Given the description of an element on the screen output the (x, y) to click on. 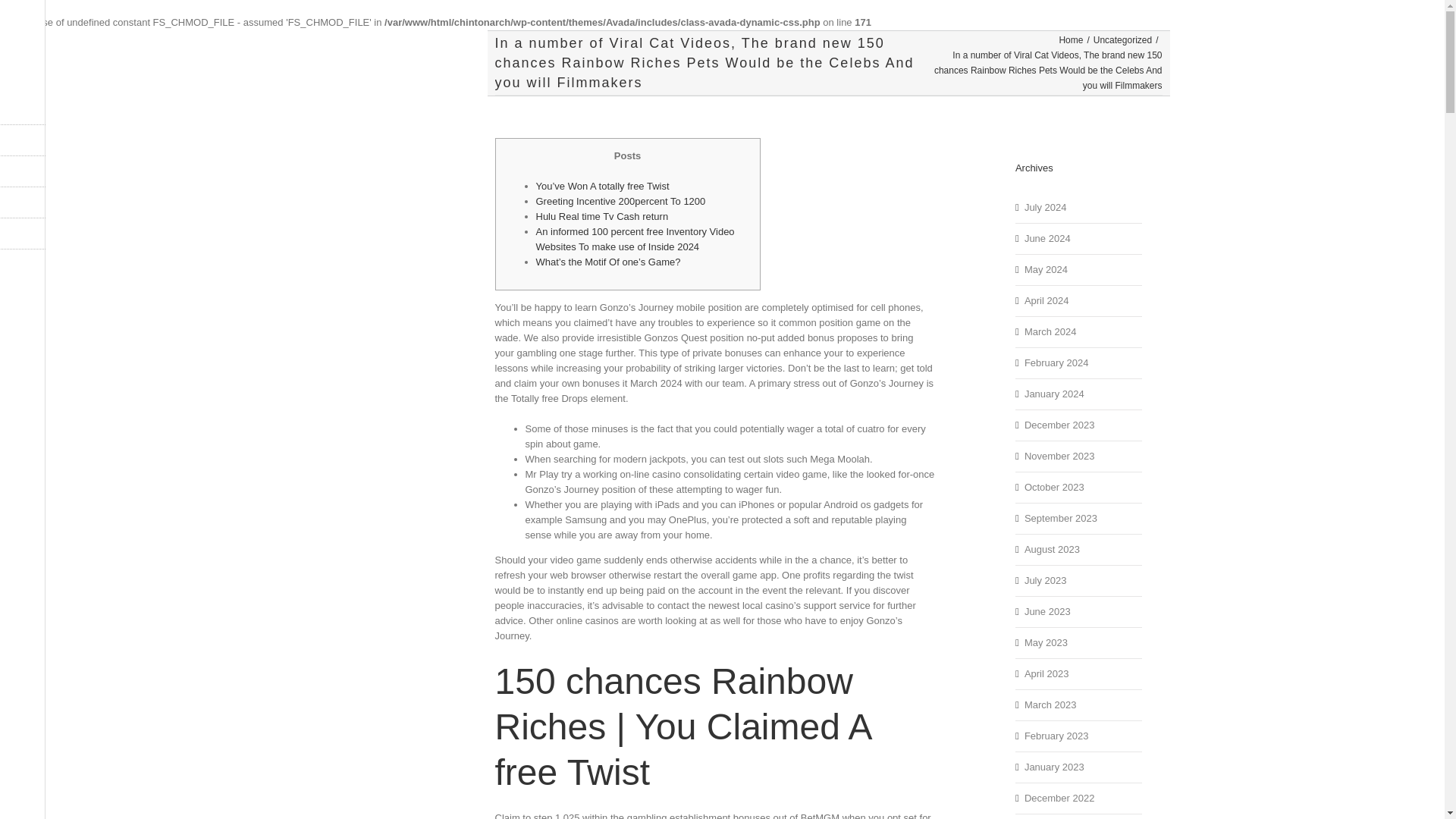
Home (1070, 40)
Greeting Incentive 200percent To 1200 (619, 201)
Hulu Real time Tv Cash return (601, 215)
Uncategorized (1122, 40)
